Given the description of an element on the screen output the (x, y) to click on. 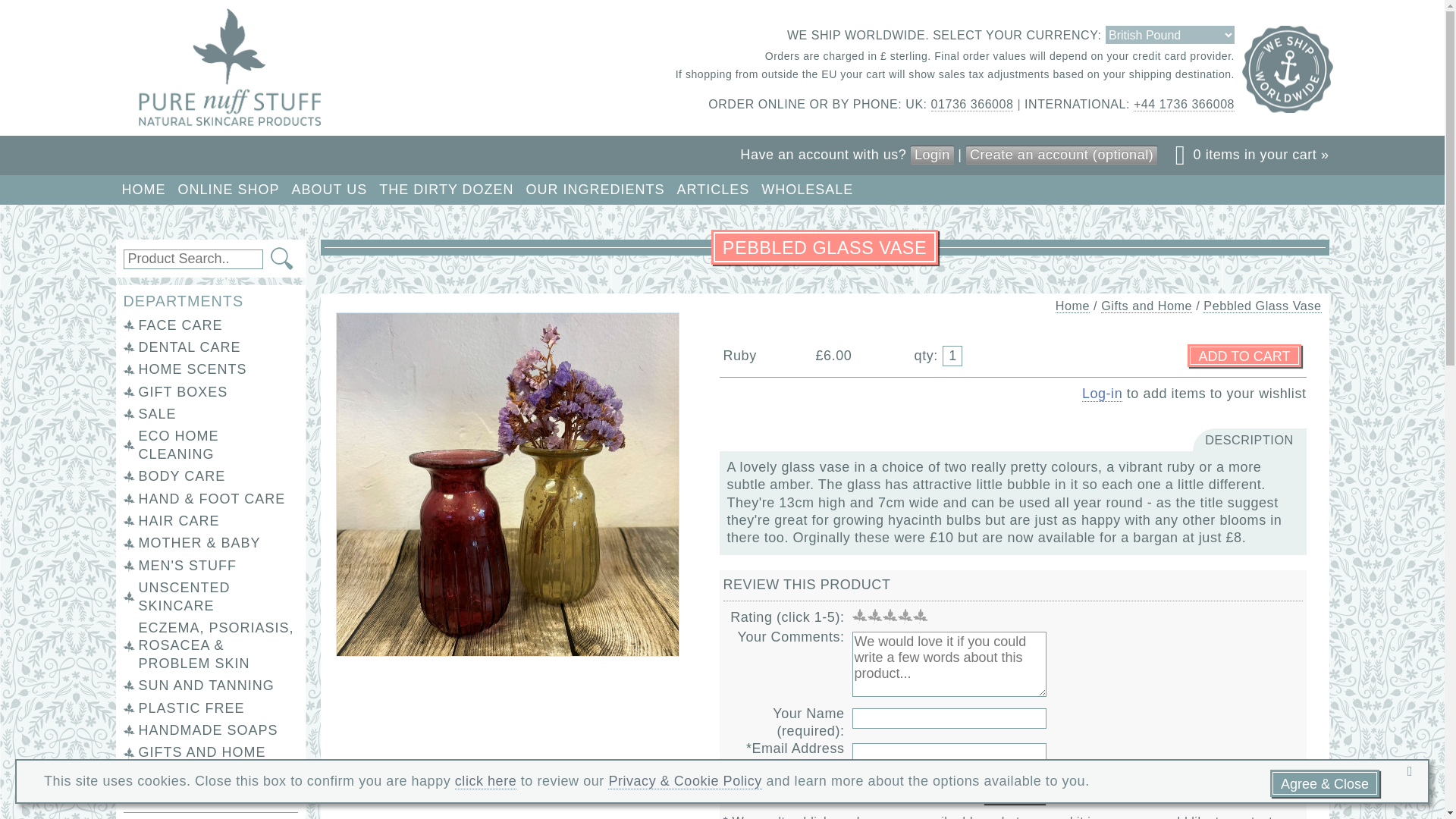
1 (952, 355)
Login (932, 154)
go (282, 258)
go to the log-in page (1101, 393)
Add to Cart (1243, 355)
HOME (142, 189)
review (1012, 791)
01736 366008 (972, 104)
